Given the description of an element on the screen output the (x, y) to click on. 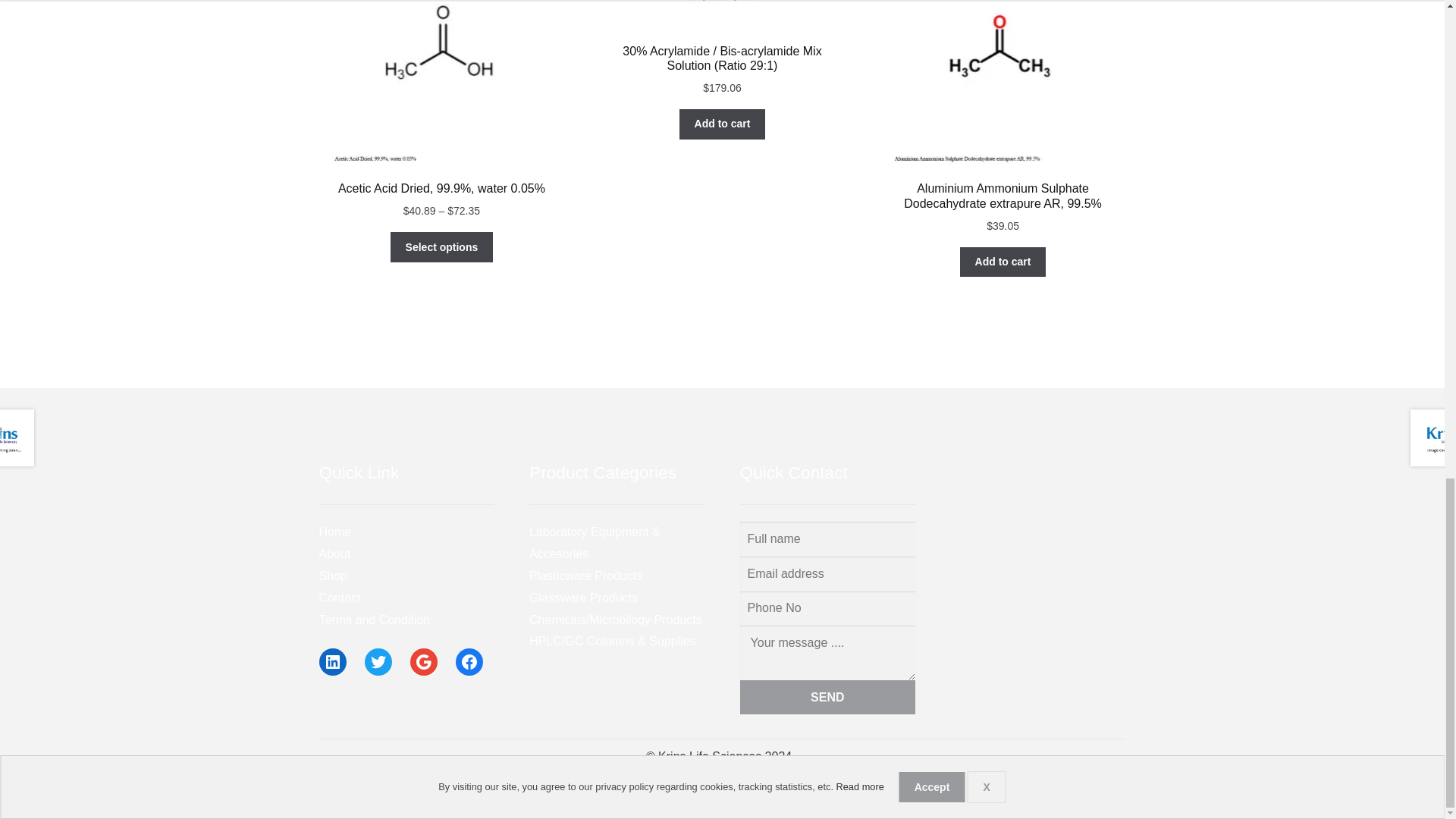
SEND (827, 697)
